Given the description of an element on the screen output the (x, y) to click on. 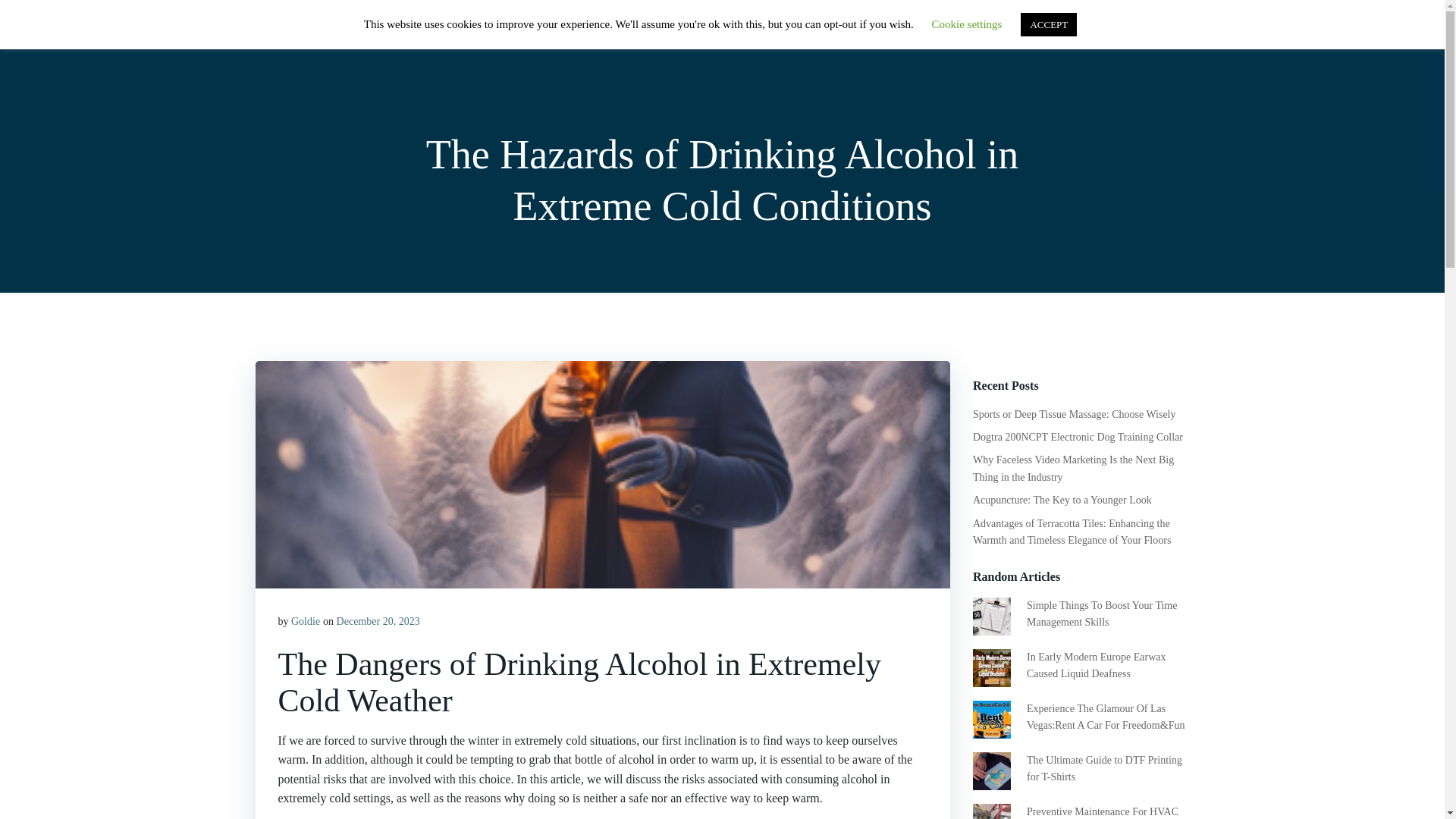
HOME (879, 30)
The Ultimate Guide to DTF Printing for T-Shirts (1104, 768)
Dogtra 200NCPT Electronic Dog Training Collar (1077, 437)
Sno Pug (284, 35)
LEGAL (1155, 32)
Sports or Deep Tissue Massage: Choose Wisely (1074, 414)
LOGIN (1088, 32)
December 20, 2023 (378, 621)
SHOP (942, 30)
